Given the description of an element on the screen output the (x, y) to click on. 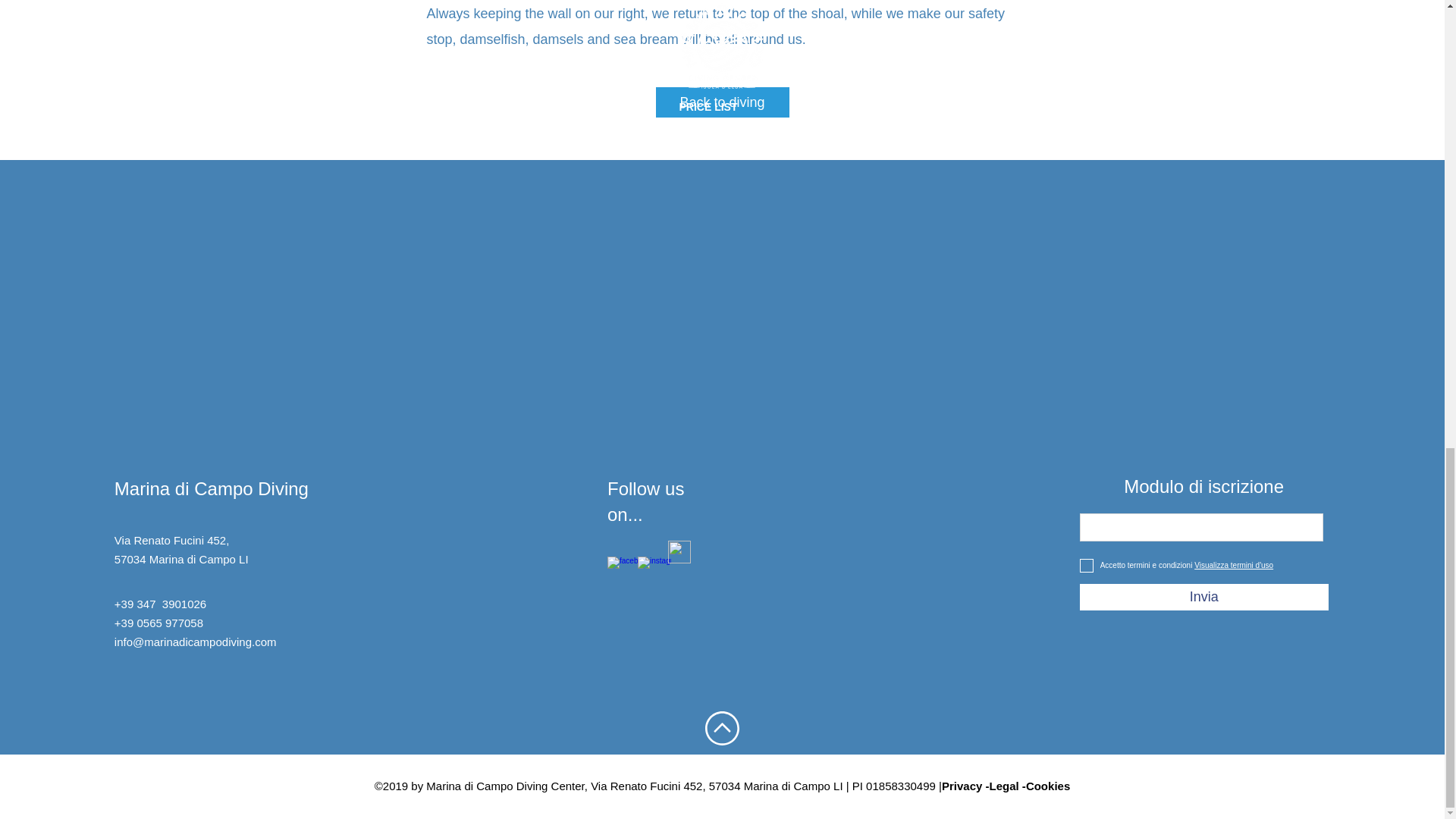
Privacy (961, 785)
Legal (1004, 785)
Cookies (1048, 785)
Back to diving (722, 101)
Invia (1203, 596)
